Given the description of an element on the screen output the (x, y) to click on. 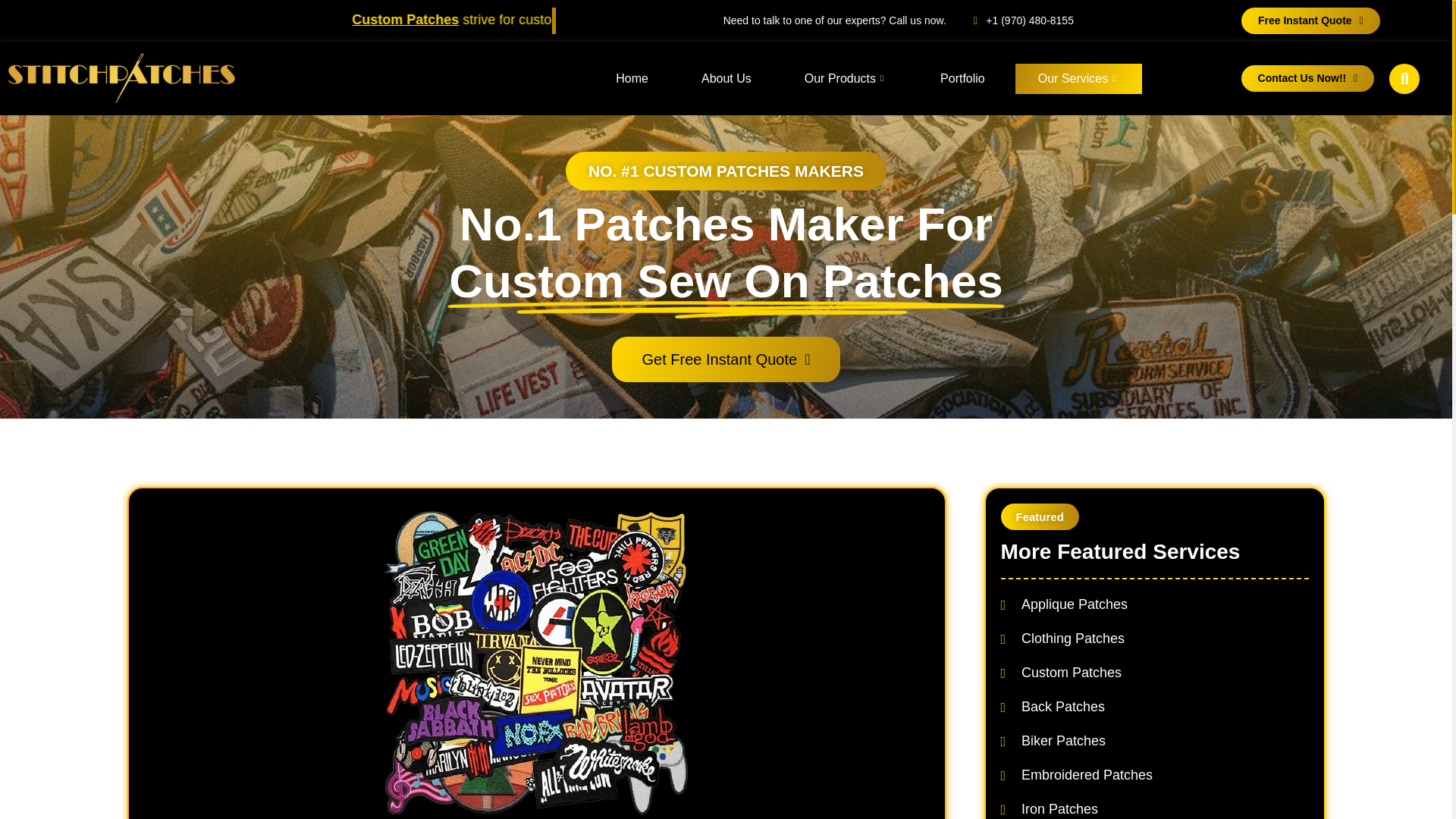
Home (631, 78)
About Us (726, 78)
Our Products (845, 78)
Sew On Patches 1 (536, 662)
Free Instant Quote (1310, 20)
